Given the description of an element on the screen output the (x, y) to click on. 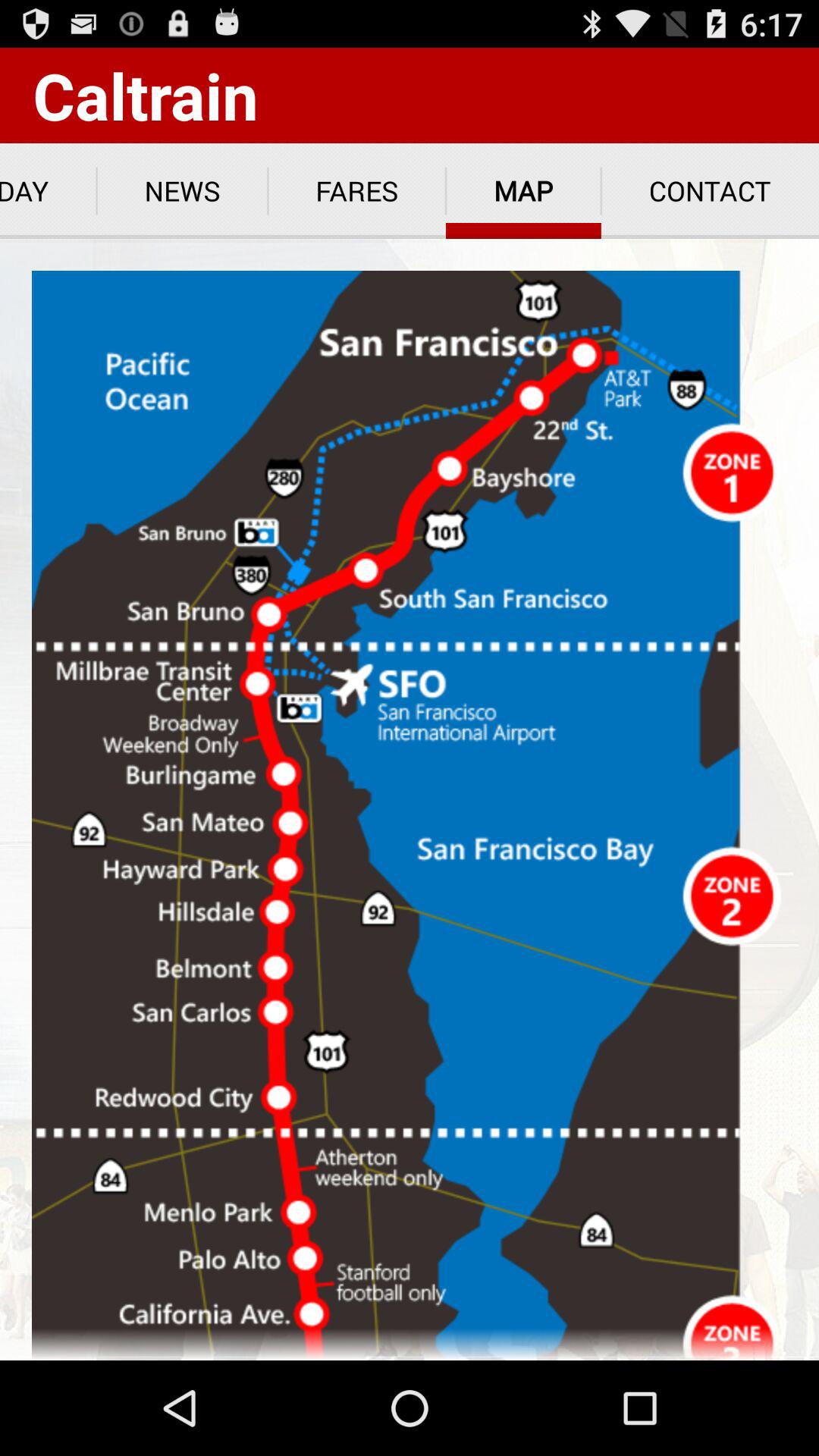
jump until today (48, 190)
